Given the description of an element on the screen output the (x, y) to click on. 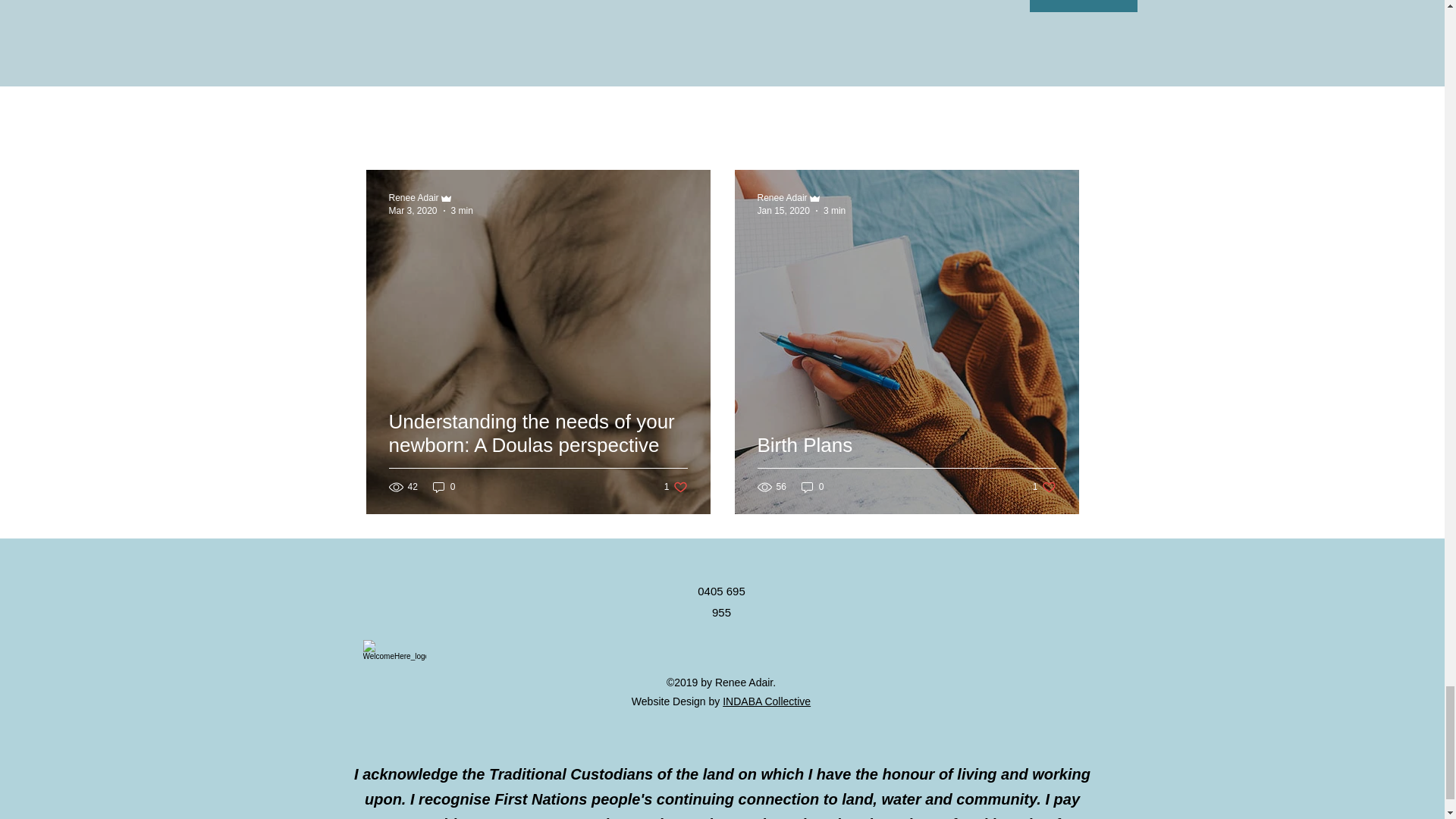
Submit (1083, 6)
Mar 3, 2020 (675, 486)
Renee Adair (412, 210)
0 (413, 197)
INDABA Collective (1044, 486)
3 min (443, 486)
3 min (766, 701)
0 (462, 210)
Jan 15, 2020 (834, 210)
Renee Adair (812, 486)
Birth Plans (783, 210)
